Given the description of an element on the screen output the (x, y) to click on. 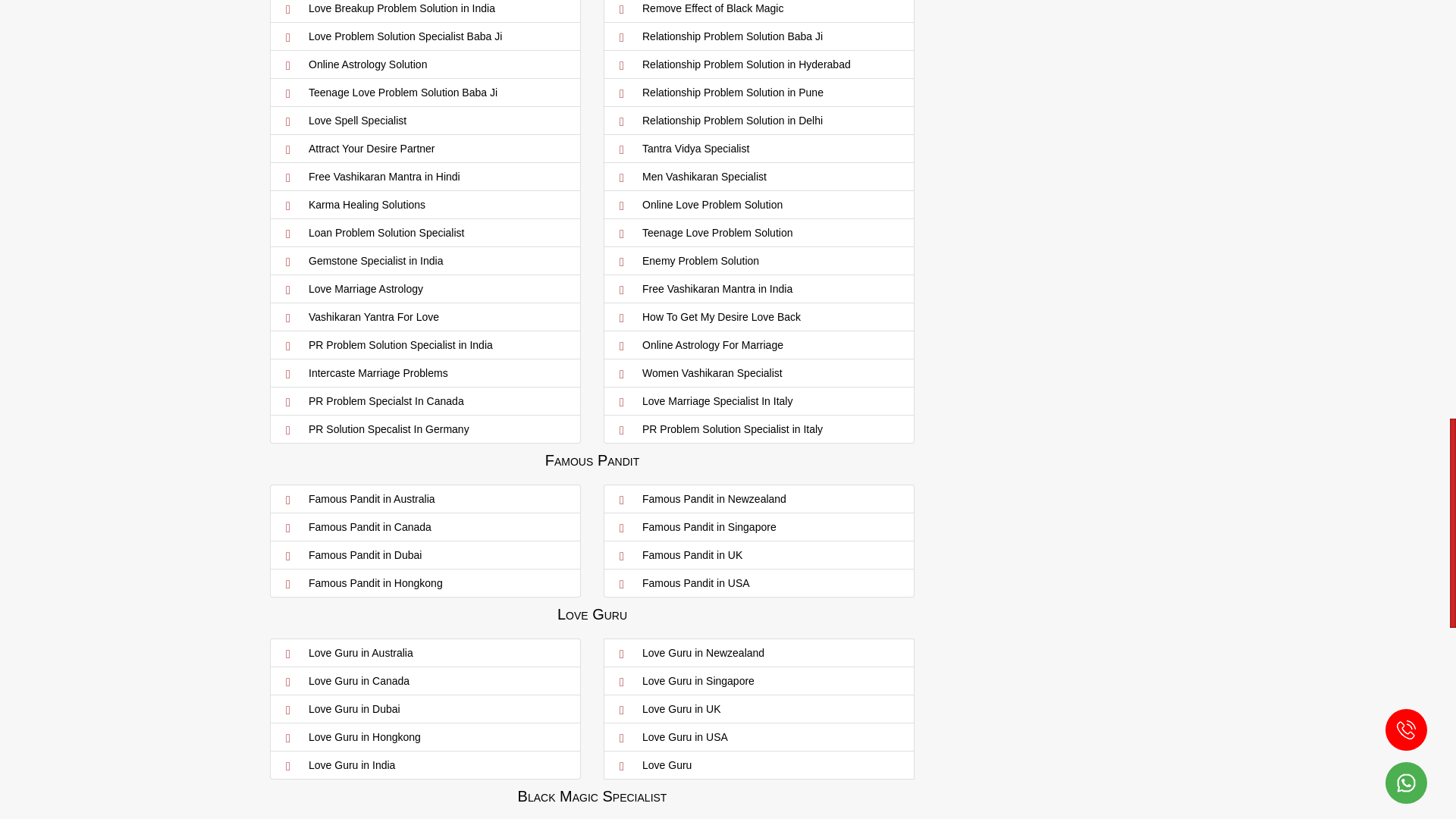
Love Problem Solution Specialist Baba Ji (424, 35)
Teenage Love Problem Solution Baba Ji (424, 92)
Online Astrology Solution (424, 64)
Love Breakup Problem Solution in India (424, 9)
